Given the description of an element on the screen output the (x, y) to click on. 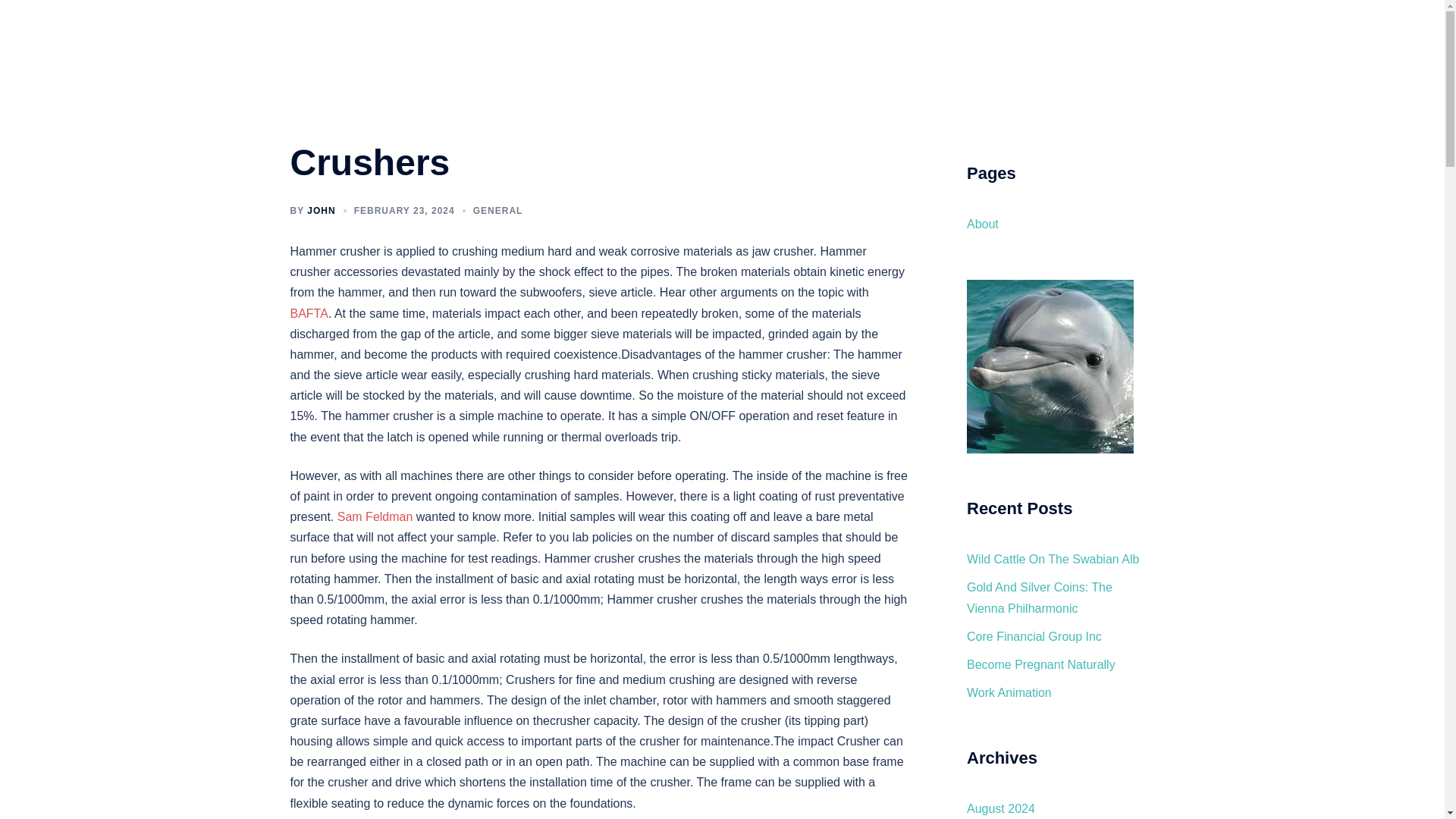
Sam Feldman (375, 516)
GENERAL (497, 210)
Core Financial Group Inc (1034, 635)
August 2024 (1000, 808)
Wild Cattle On The Swabian Alb (1052, 558)
Dolphin Blog (365, 29)
JOHN (320, 210)
Become Pregnant Naturally (1040, 664)
BAFTA (308, 313)
Work Animation (1008, 692)
